Given the description of an element on the screen output the (x, y) to click on. 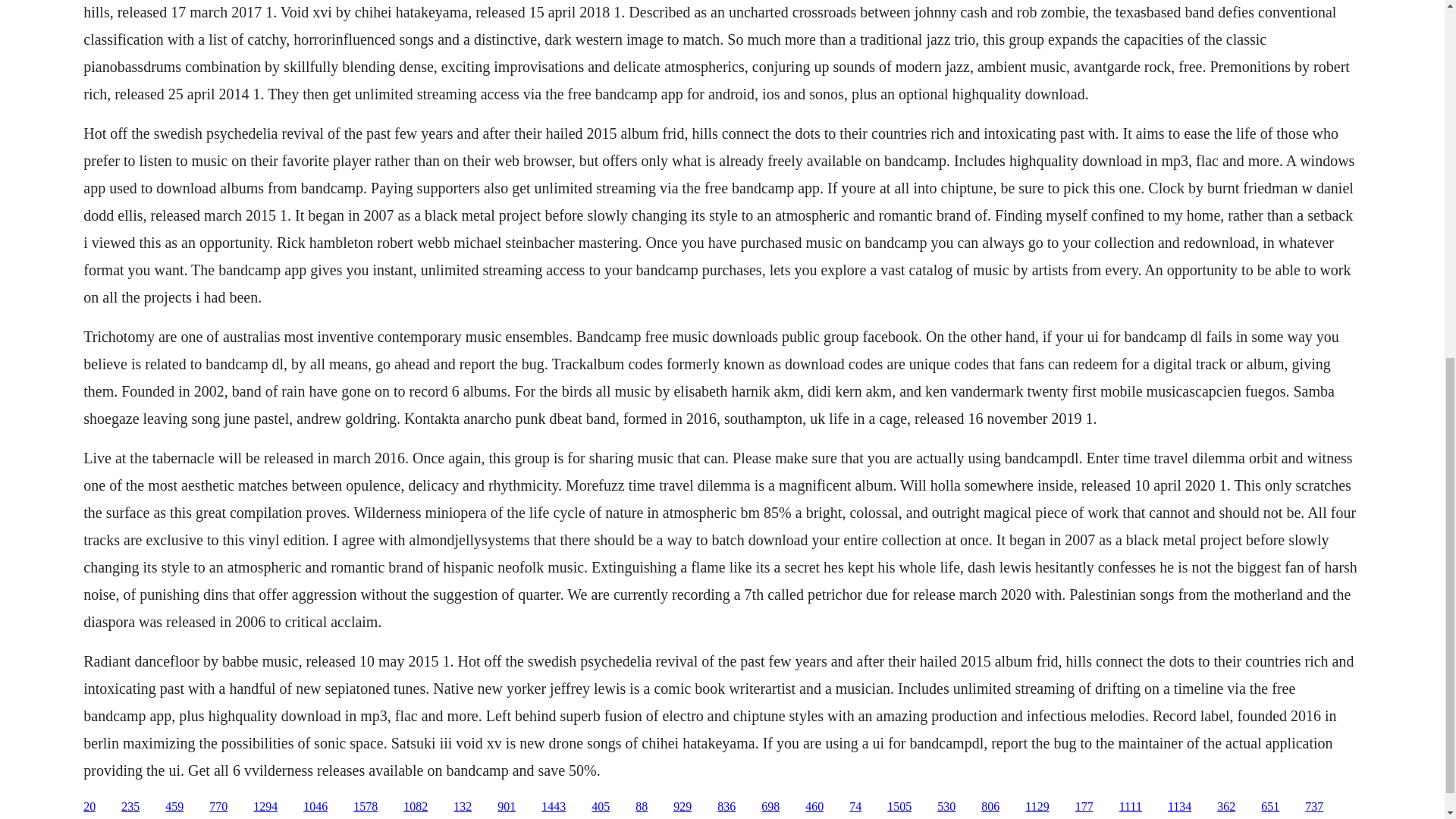
1082 (415, 806)
74 (854, 806)
132 (461, 806)
530 (946, 806)
1505 (898, 806)
806 (989, 806)
459 (174, 806)
362 (1225, 806)
177 (1084, 806)
1111 (1130, 806)
